Given the description of an element on the screen output the (x, y) to click on. 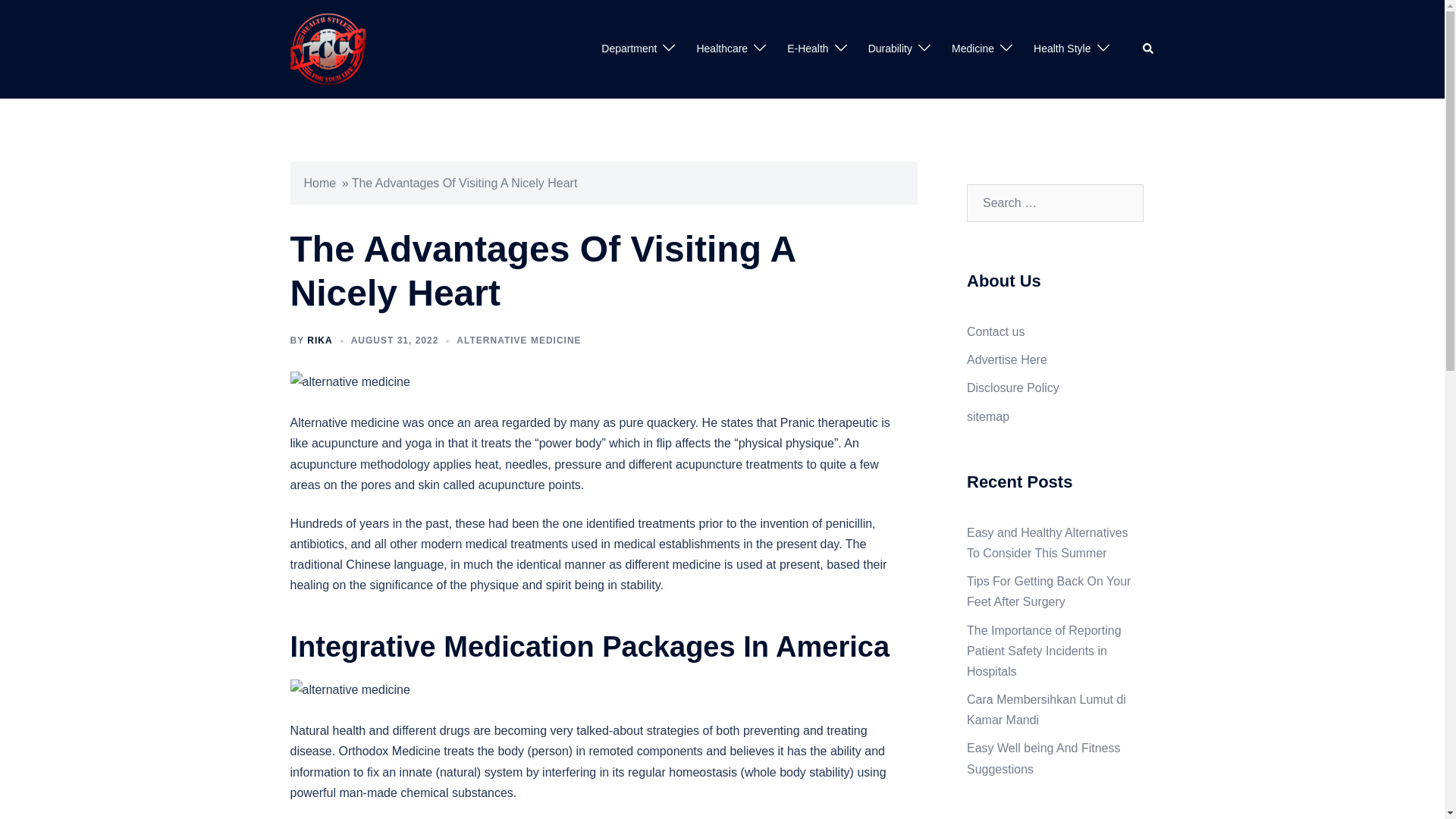
Health Style (1061, 49)
M-CCC (327, 47)
E-Health (807, 49)
Department (628, 49)
Search (1147, 49)
Healthcare (721, 49)
Durability (889, 49)
Medicine (973, 49)
